Given the description of an element on the screen output the (x, y) to click on. 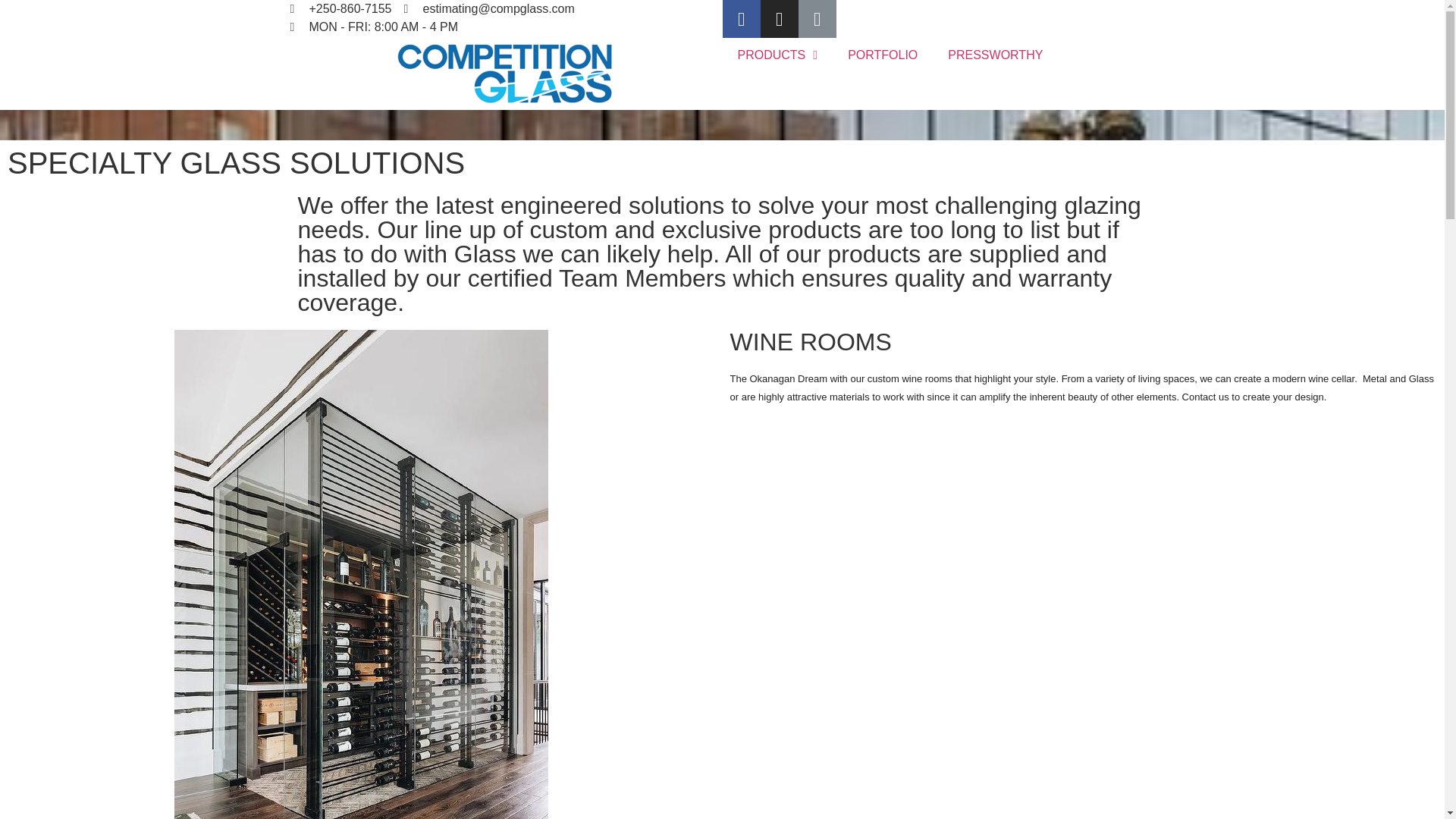
PORTFOLIO (882, 54)
PRESSWORTHY (995, 54)
PRODUCTS (777, 54)
